Given the description of an element on the screen output the (x, y) to click on. 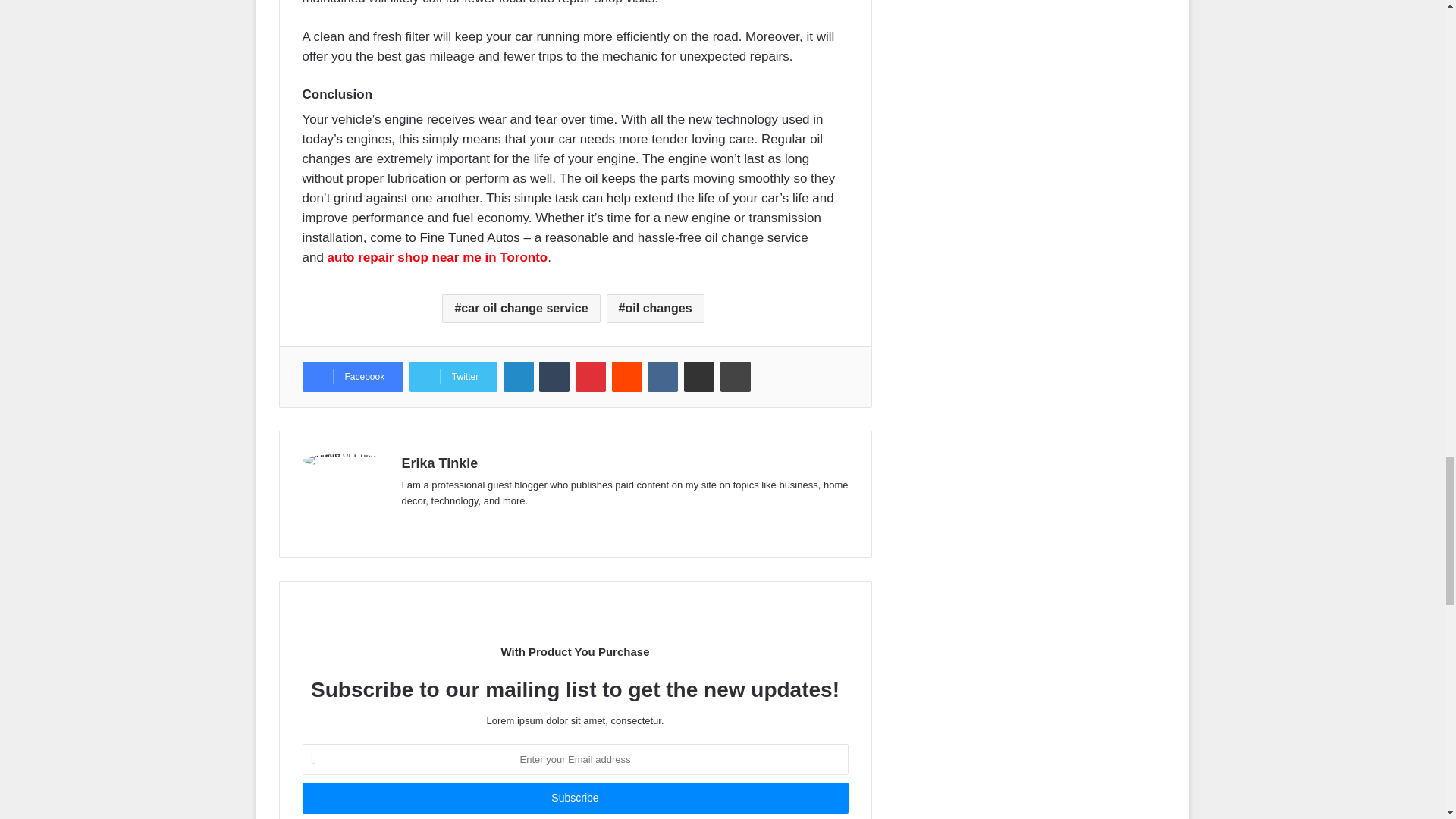
Reddit (626, 376)
Twitter (453, 376)
LinkedIn (518, 376)
Subscribe (574, 798)
Print (735, 376)
Facebook (352, 376)
Tumblr (553, 376)
LinkedIn (518, 376)
Facebook (352, 376)
Pinterest (590, 376)
Share via Email (699, 376)
oil changes (655, 308)
Twitter (453, 376)
car oil change service (520, 308)
VKontakte (662, 376)
